Given the description of an element on the screen output the (x, y) to click on. 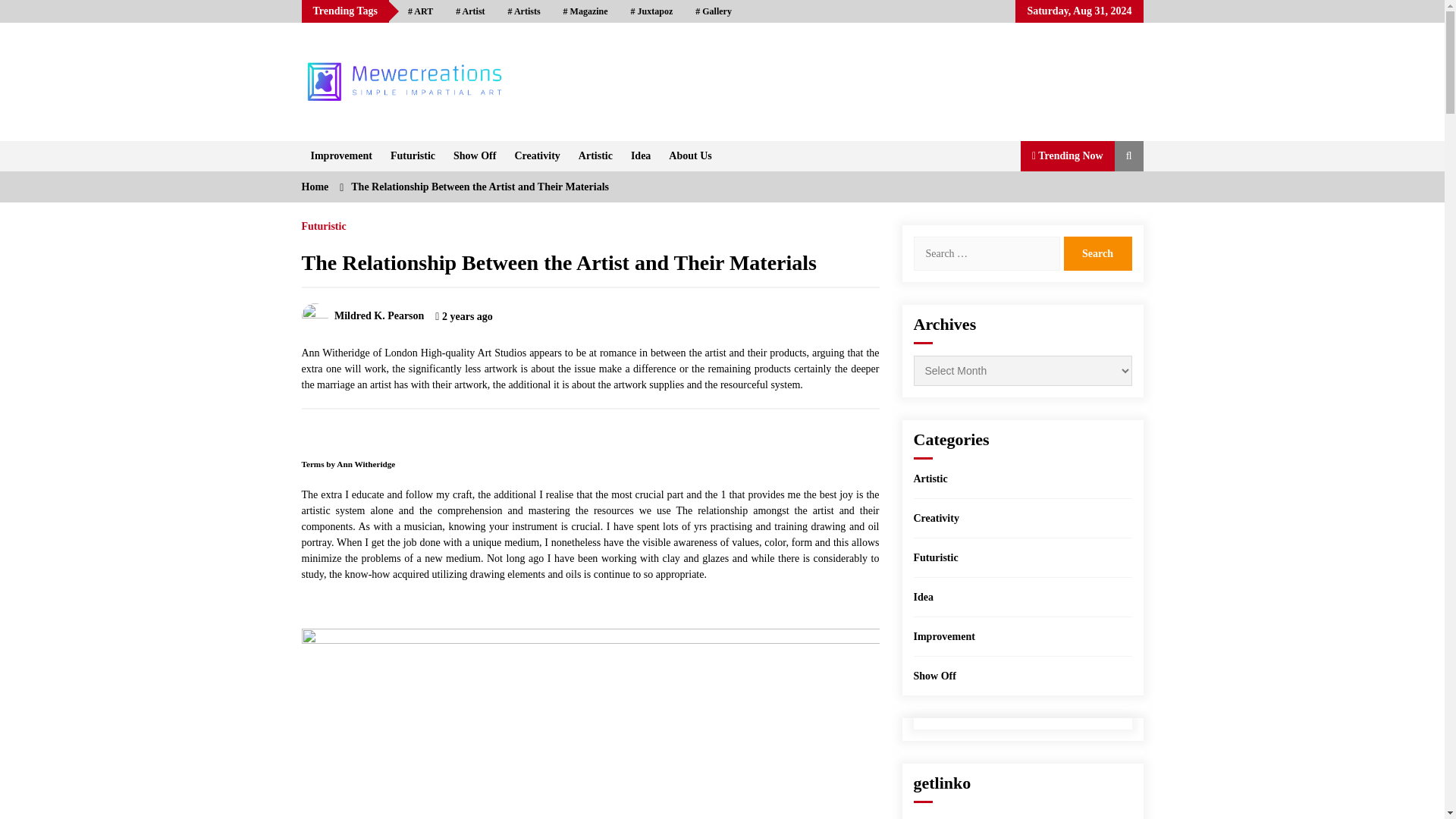
Search (1096, 253)
Juxtapoz (652, 11)
Idea (640, 155)
About Us (689, 155)
Gallery (713, 11)
Artist (470, 11)
Improvement (341, 155)
Magazine (585, 11)
Show Off (474, 155)
Artistic (595, 155)
